Given the description of an element on the screen output the (x, y) to click on. 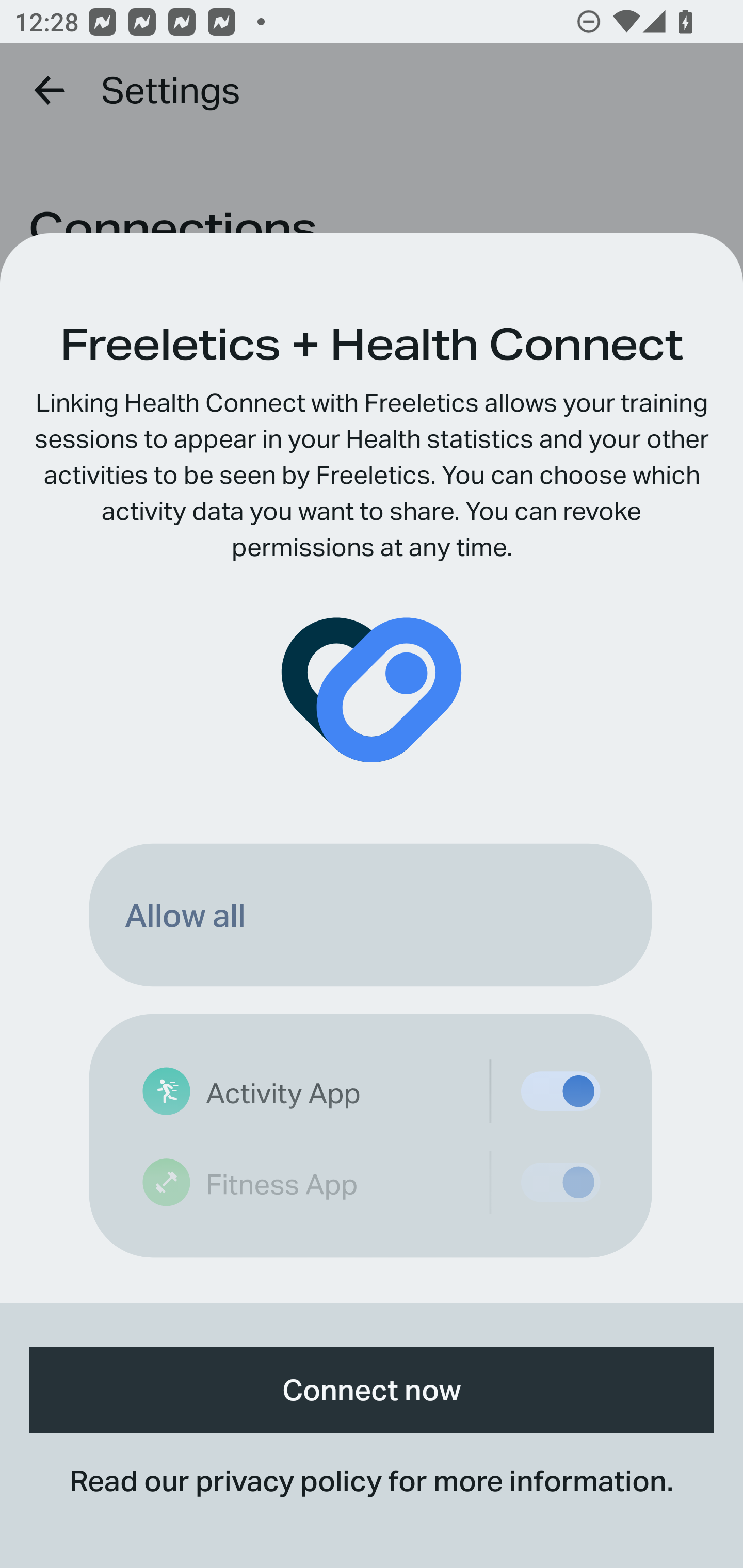
Connect now (371, 1389)
Read our privacy policy for more information. (371, 1480)
